Given the description of an element on the screen output the (x, y) to click on. 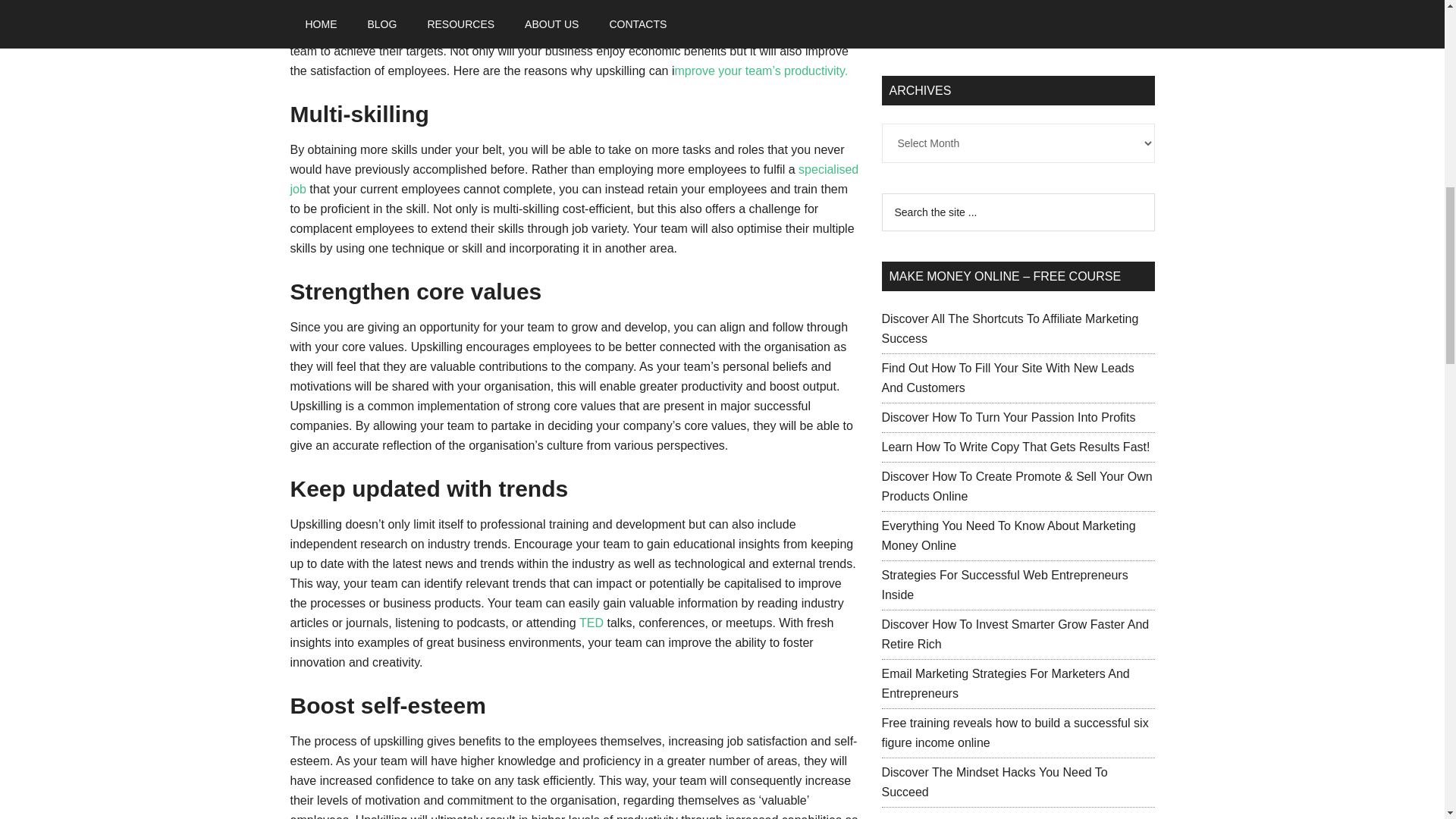
TED (593, 622)
specialised job (574, 178)
